Given the description of an element on the screen output the (x, y) to click on. 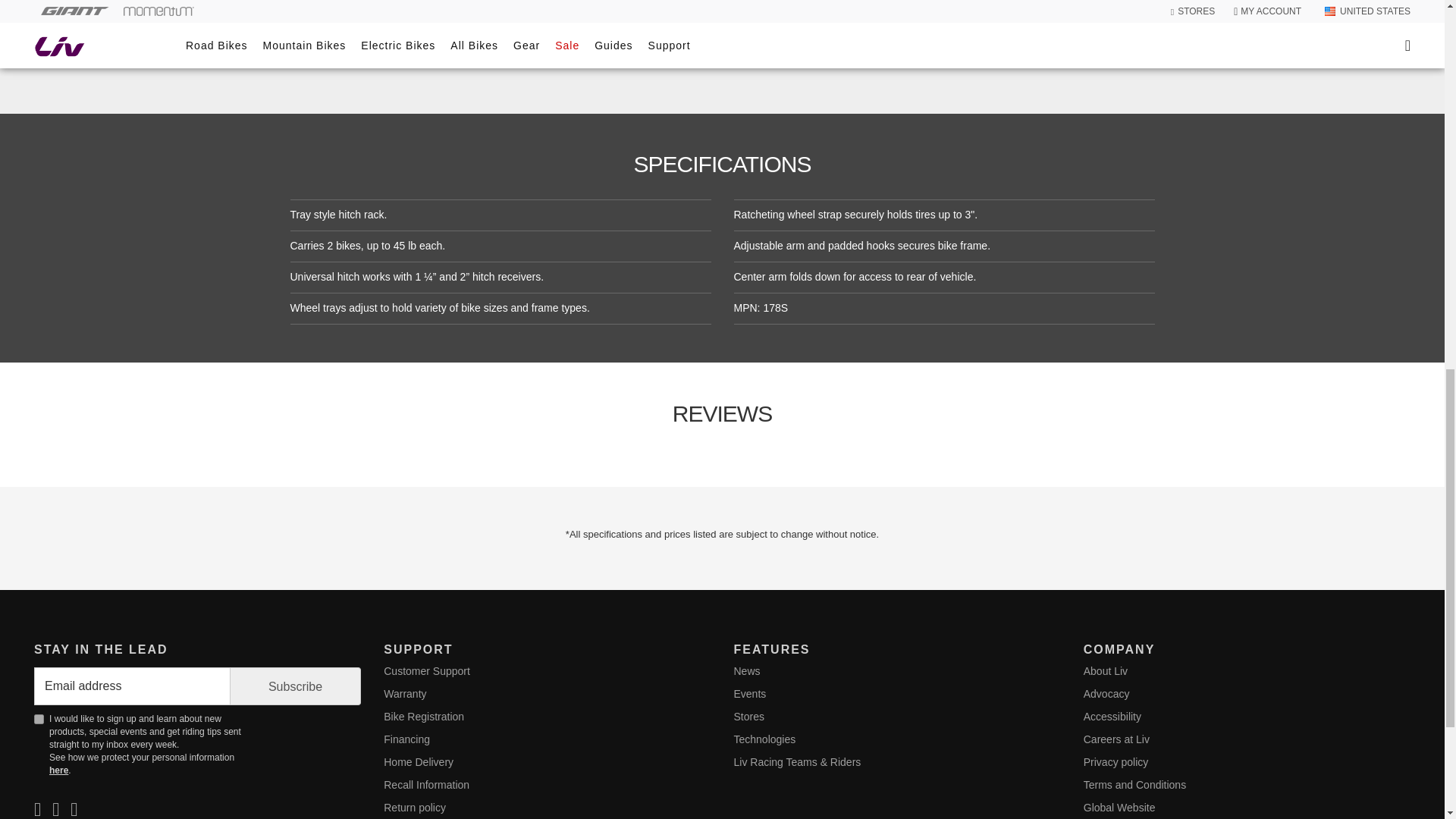
REVIEWS (721, 6)
on (721, 413)
SPECIFICATIONS (38, 718)
